Given the description of an element on the screen output the (x, y) to click on. 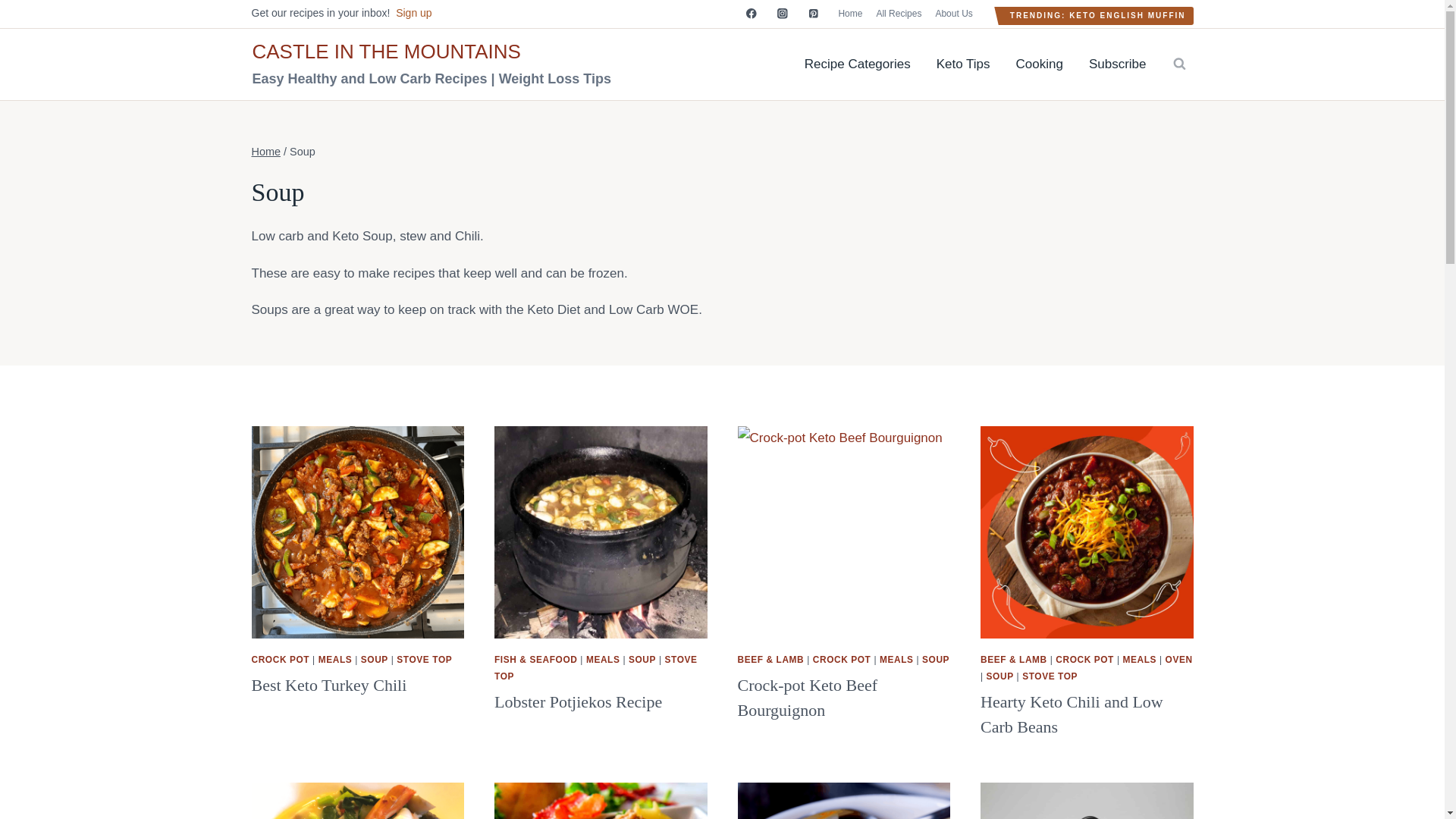
Sign up (413, 12)
Crock-pot Keto Beef Bourguignon (806, 697)
TRENDING: KETO ENGLISH MUFFIN (1098, 15)
MEALS (603, 659)
Keto Tips (963, 64)
Home (266, 151)
Best Keto Turkey Chili (329, 684)
STOVE TOP (596, 667)
Subscribe (1116, 64)
CROCK POT (1084, 659)
Lobster Potjiekos Recipe (578, 701)
CROCK POT (841, 659)
MEALS (896, 659)
Cooking (1039, 64)
SOUP (374, 659)
